Given the description of an element on the screen output the (x, y) to click on. 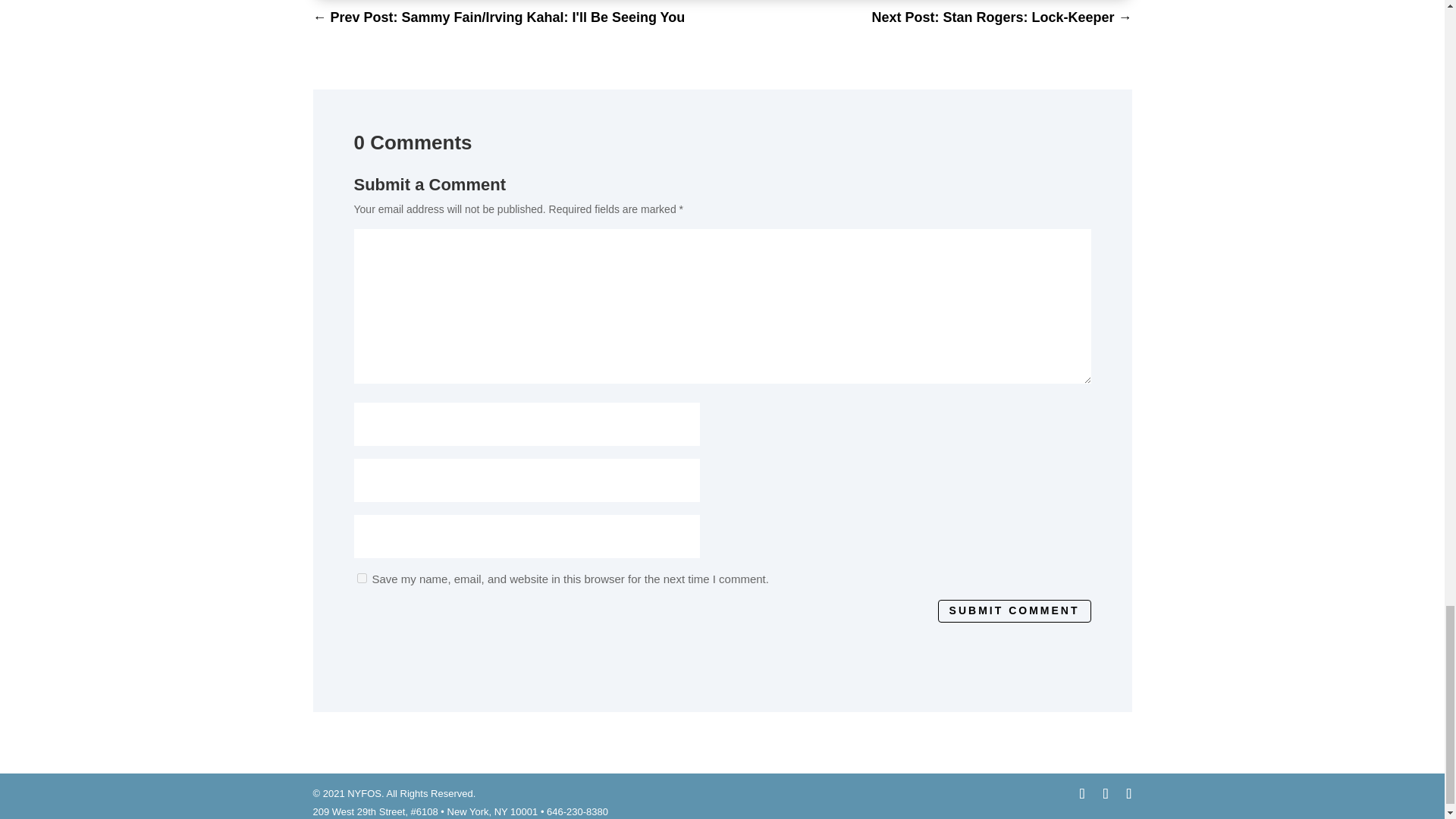
SUBMIT COMMENT (1013, 610)
yes (361, 578)
